Given the description of an element on the screen output the (x, y) to click on. 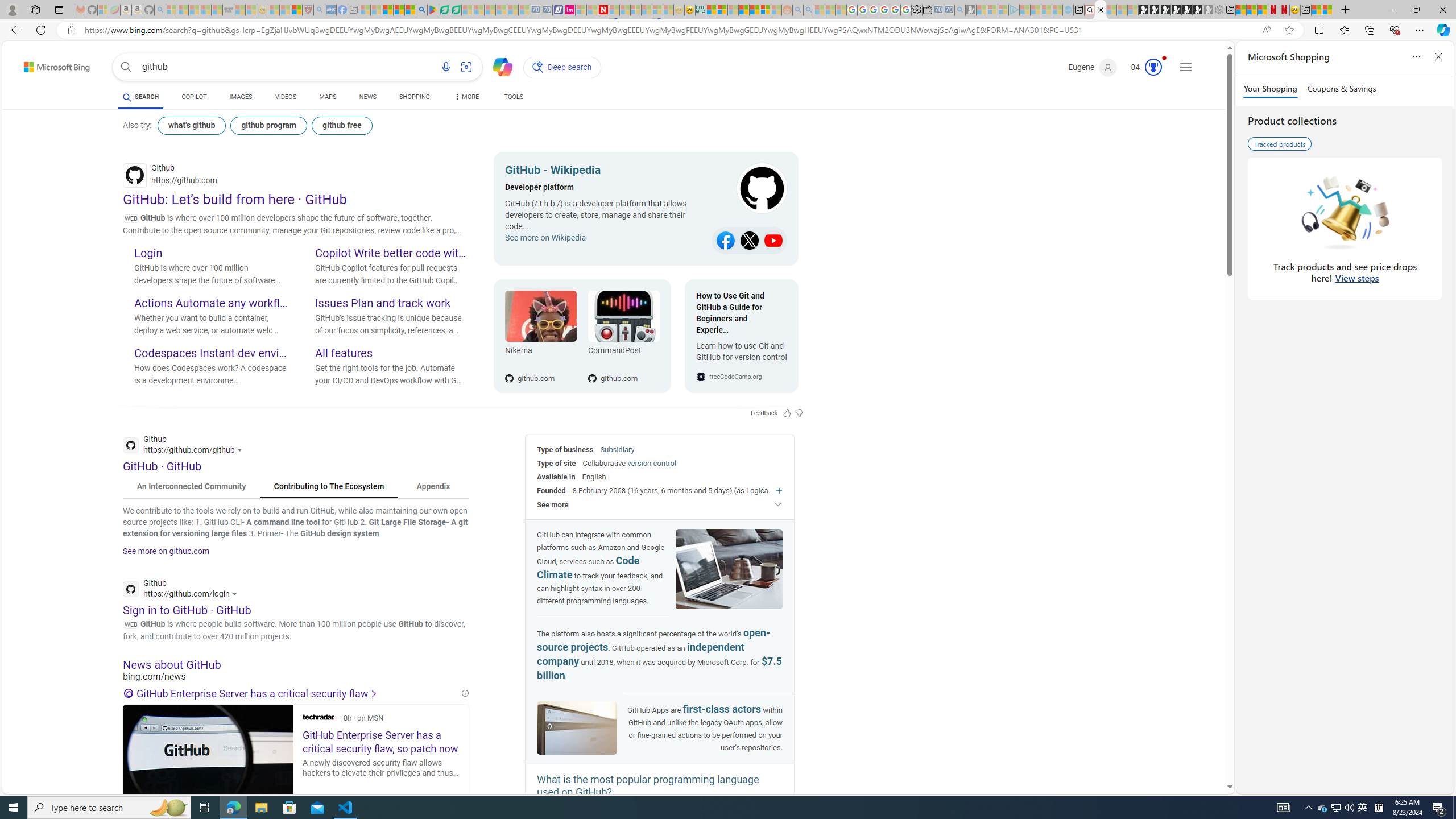
Available in (556, 476)
Nikema Nikema github.com (540, 335)
MAPS (327, 98)
github - Search (1100, 9)
Microsoft Word - consumer-privacy address update 2.2021 (455, 9)
